Given the description of an element on the screen output the (x, y) to click on. 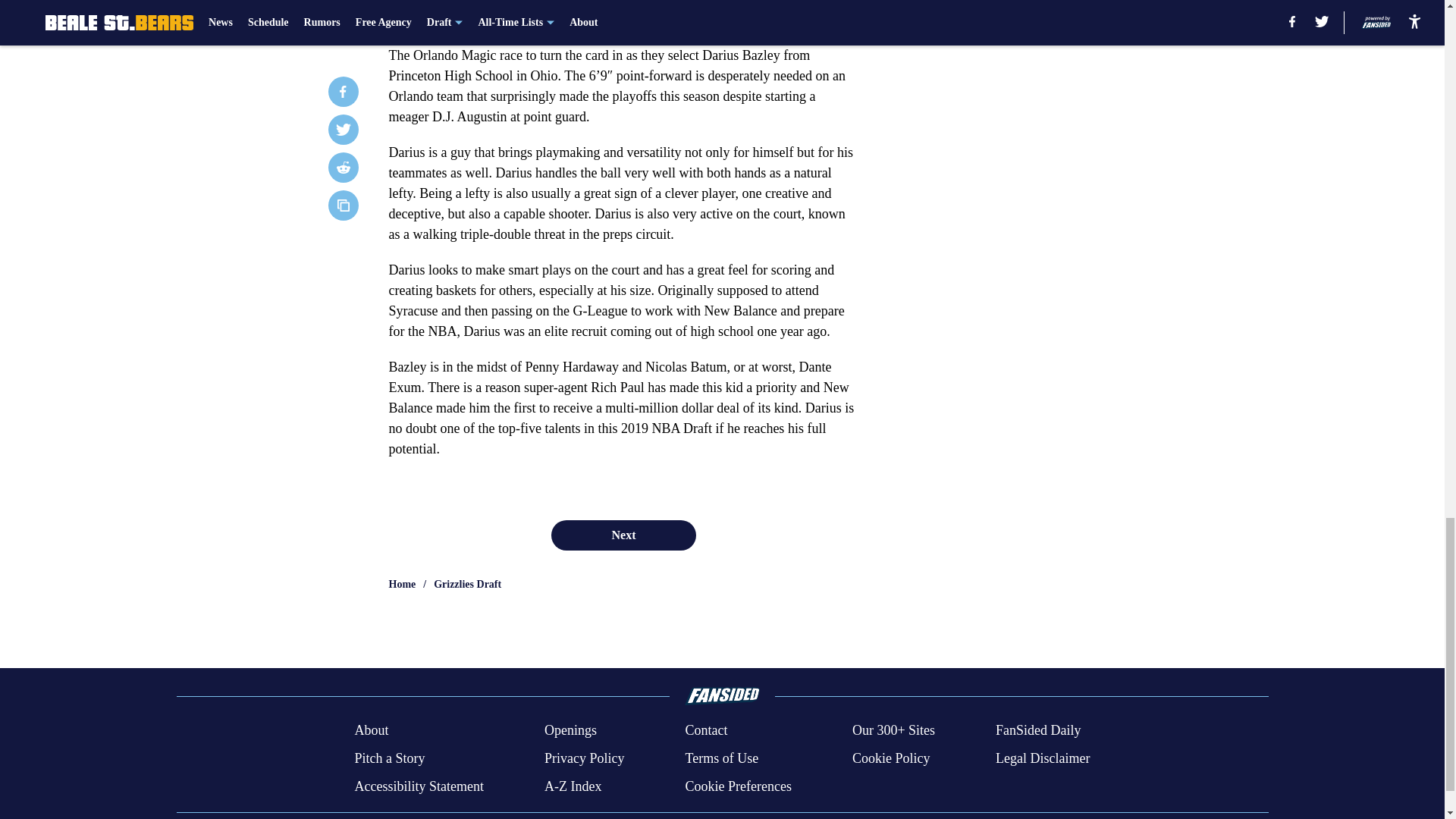
Contact (705, 730)
Privacy Policy (584, 758)
About (370, 730)
Next (622, 535)
Pitch a Story (389, 758)
Openings (570, 730)
Grizzlies Draft (466, 584)
FanSided Daily (1038, 730)
Home (401, 584)
